Given the description of an element on the screen output the (x, y) to click on. 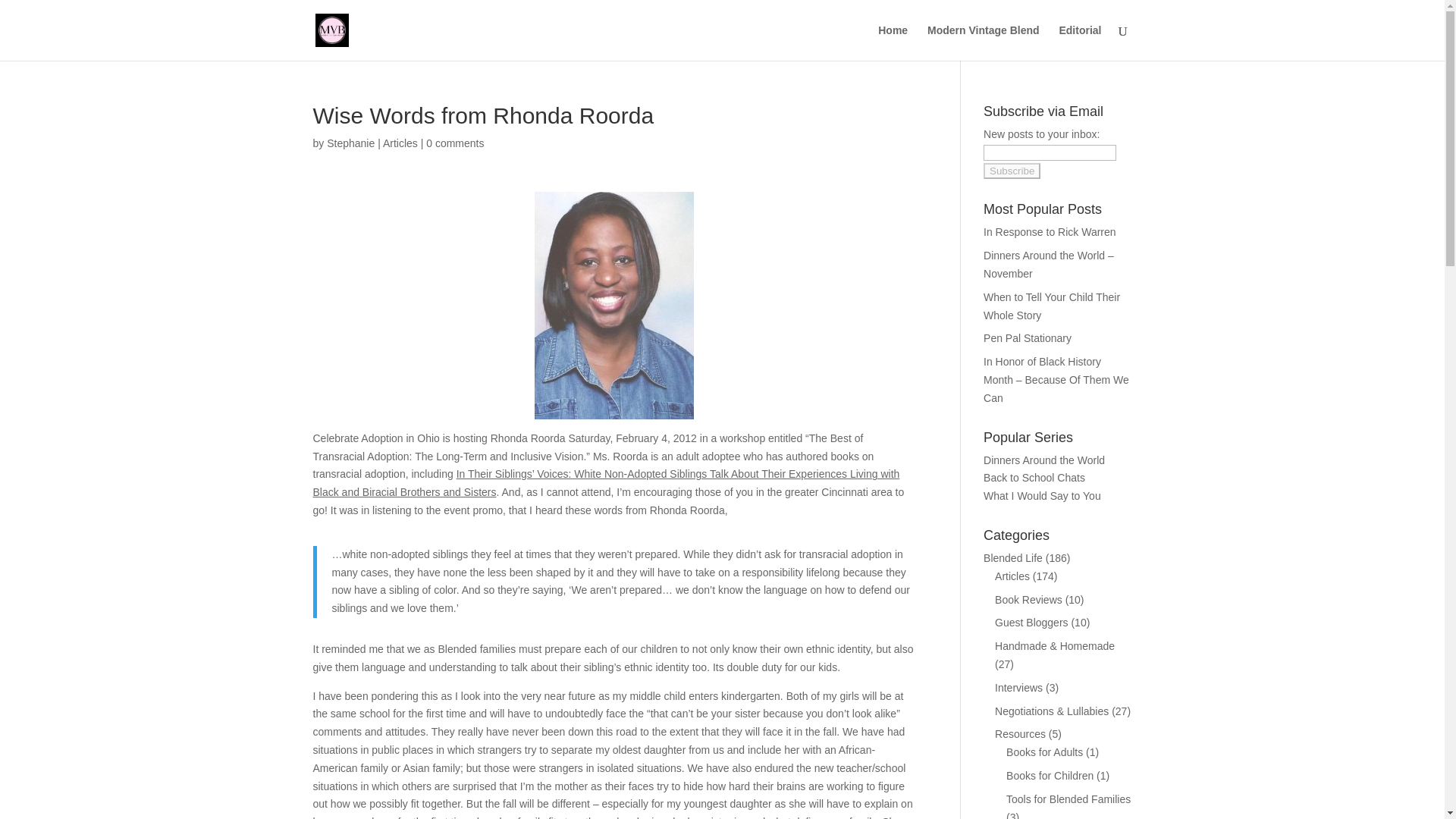
Interviews (1018, 687)
Books for Adults (1044, 752)
Five Must Have Back to School Chats (1034, 477)
Editorial (1079, 42)
Pen Pal Stationary (1027, 337)
Dinners Around the World (1044, 460)
Blended Life (1013, 558)
What I Would Say to You (1042, 495)
Posts by Stephanie (350, 143)
Resources (1019, 734)
